Given the description of an element on the screen output the (x, y) to click on. 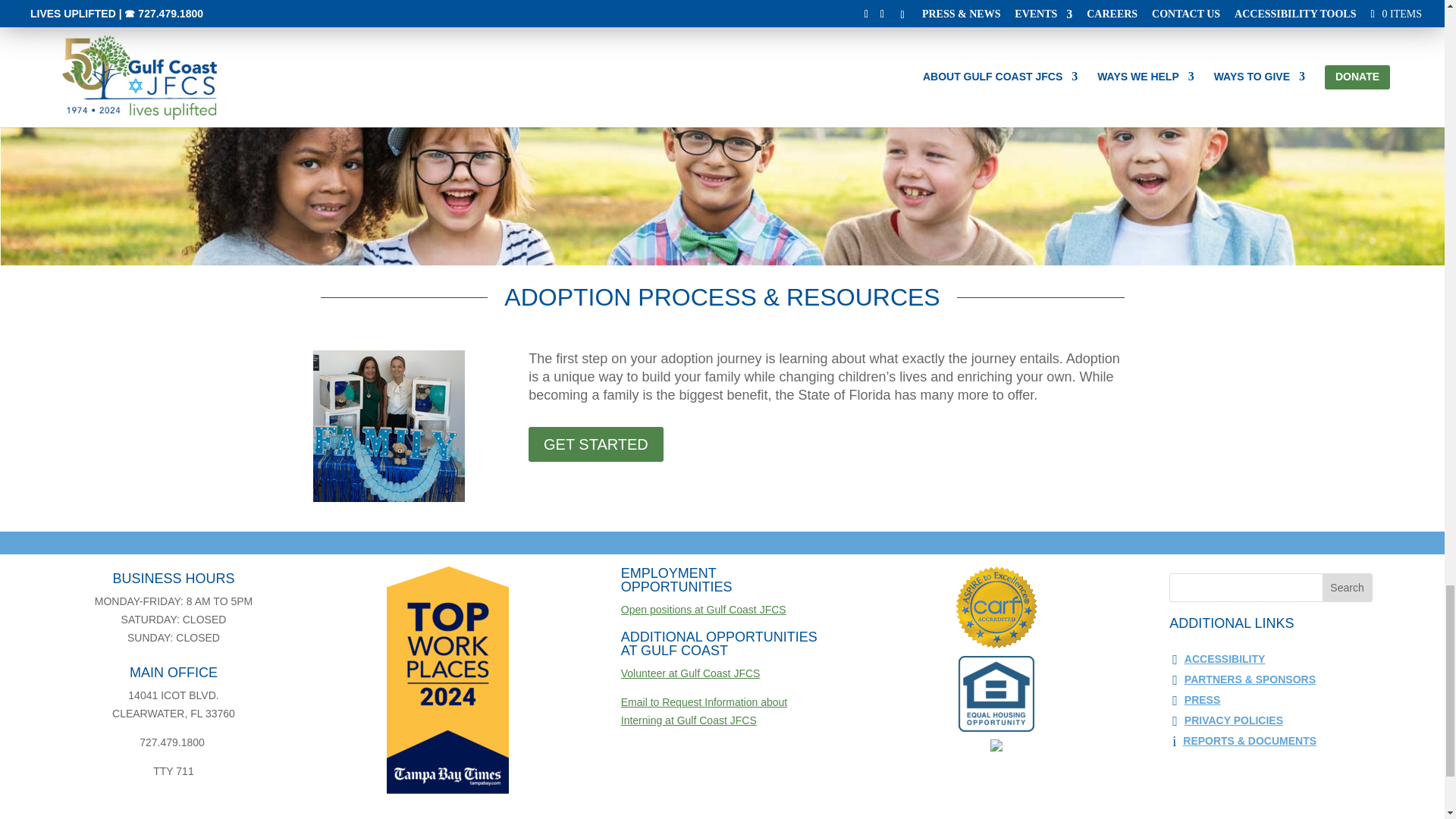
Search (1346, 587)
Bear with Heart Gallery staff (388, 426)
Search (1346, 587)
